Given the description of an element on the screen output the (x, y) to click on. 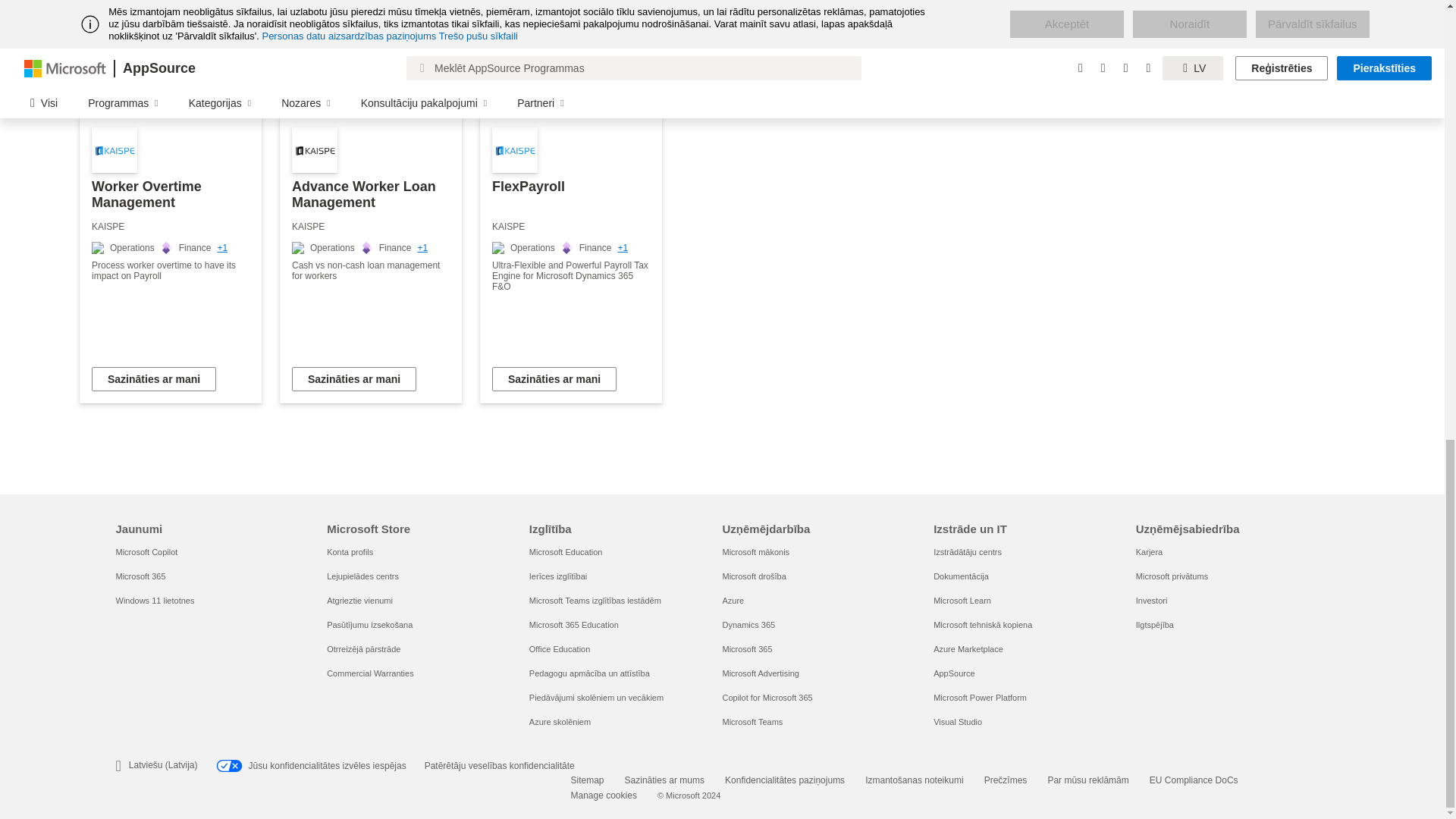
Microsoft Copilot (146, 551)
FlexPayroll (571, 259)
Microsoft 365 (140, 575)
Advance Worker Loan Management (370, 259)
Worker Overtime Management (171, 259)
